Given the description of an element on the screen output the (x, y) to click on. 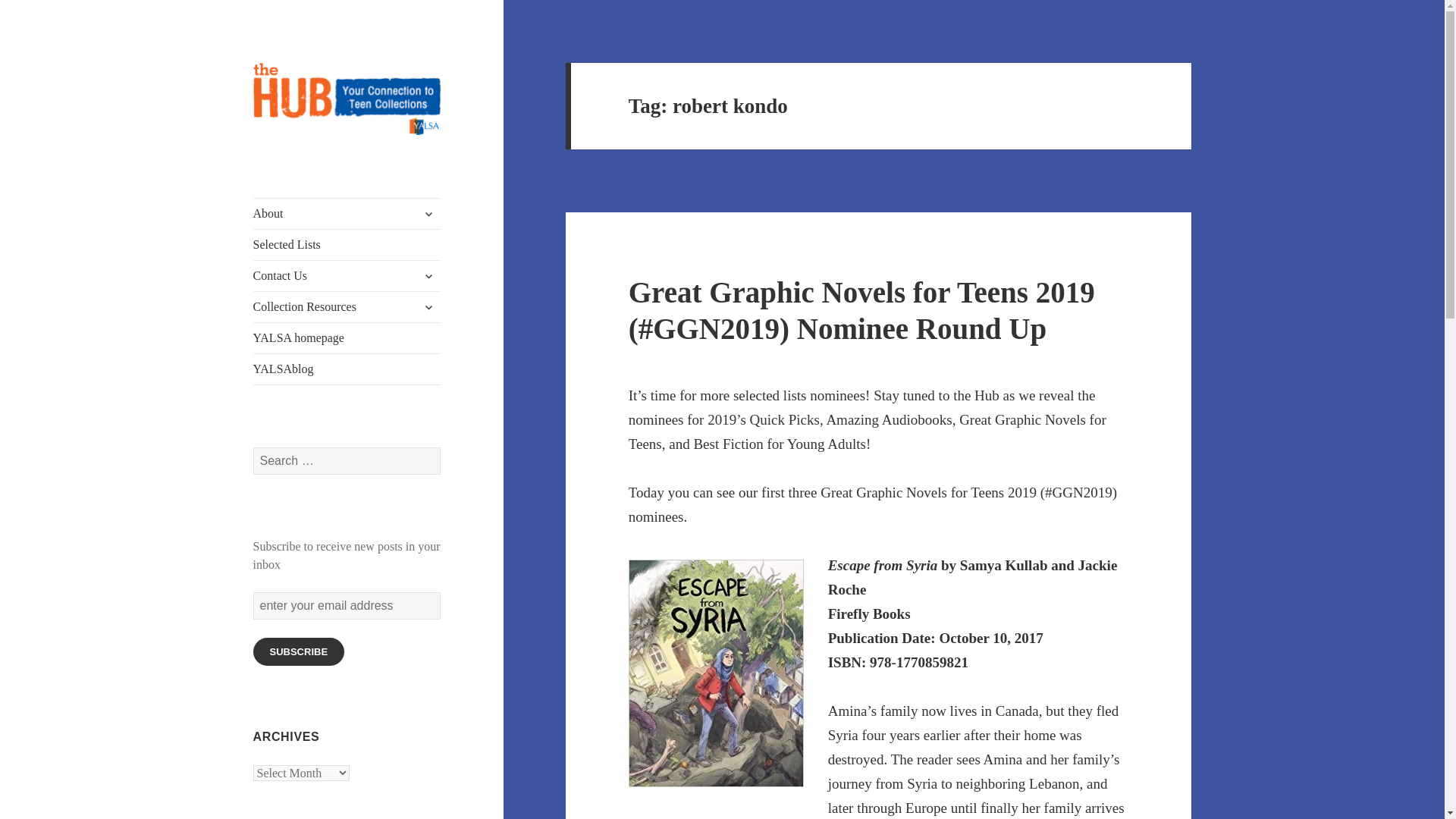
The Hub (293, 159)
expand child menu (428, 213)
Collection Resources (347, 306)
YALSA homepage (347, 337)
Contact Us (347, 276)
YALSAblog (347, 368)
Selected Lists (347, 245)
